Given the description of an element on the screen output the (x, y) to click on. 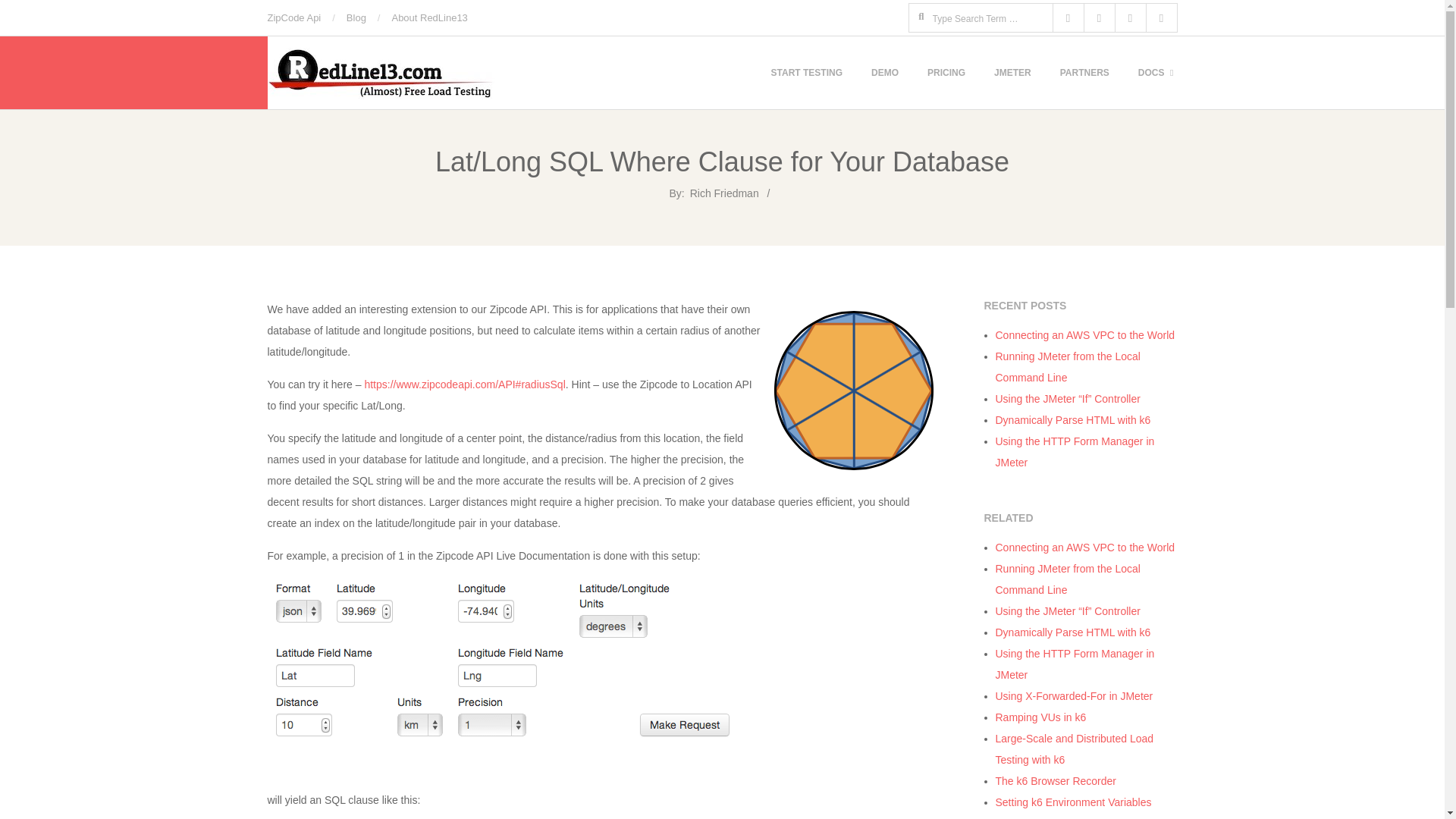
Connecting an AWS VPC to the World (1084, 547)
About RedLine13 (429, 17)
JMETER (1013, 72)
DEMO (884, 72)
Using the HTTP Form Manager in JMeter (1074, 451)
Connecting an AWS VPC to the World (1084, 335)
DOCS (1154, 72)
PARTNERS (1084, 72)
Posts by Rich Friedman (724, 193)
Rich Friedman (724, 193)
